Given the description of an element on the screen output the (x, y) to click on. 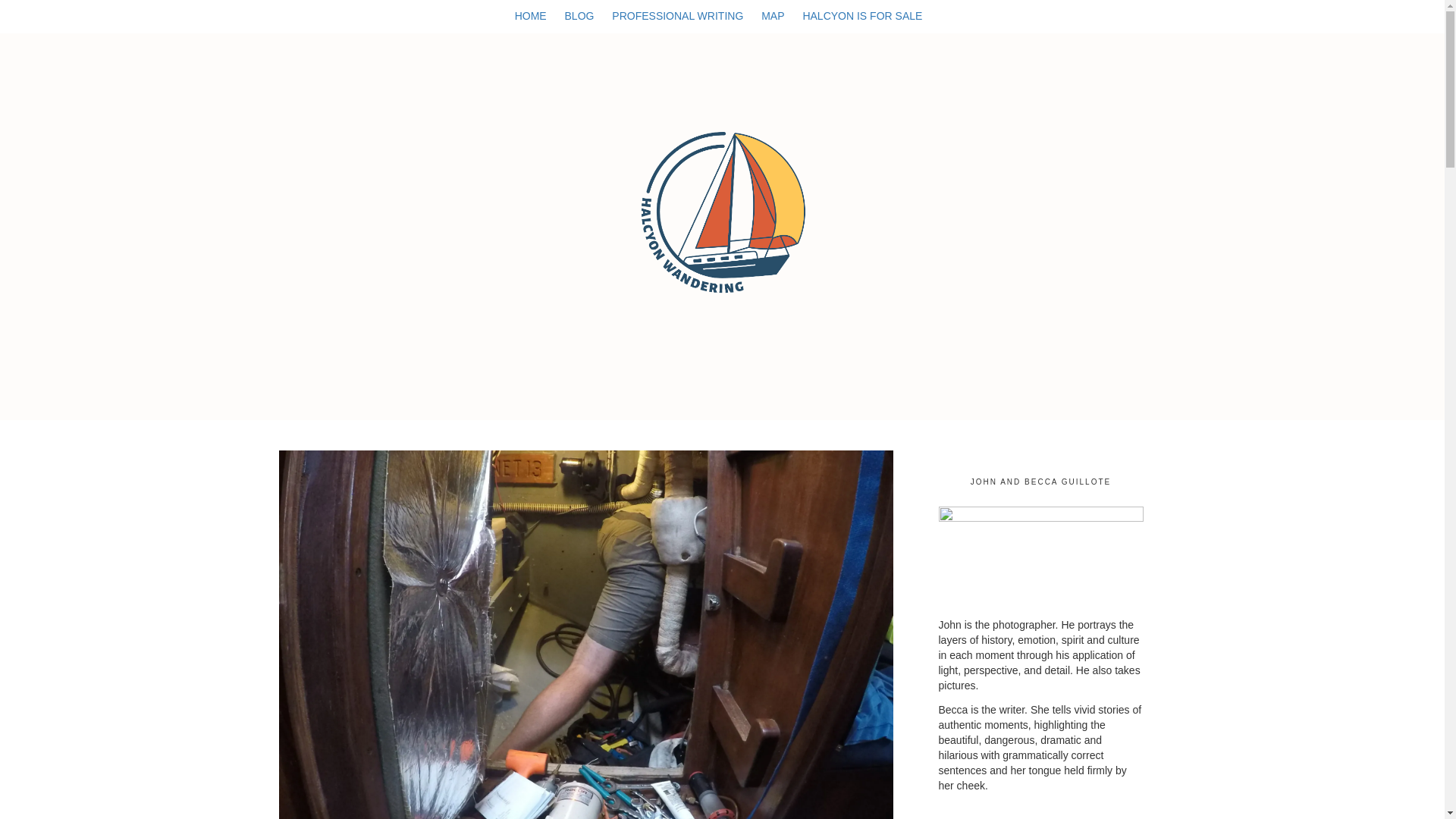
Halcyon Wandering (721, 208)
HOME (534, 24)
PROFESSIONAL WRITING (681, 24)
BLOG (583, 24)
HALCYON IS FOR SALE (866, 24)
MAP (776, 24)
